Given the description of an element on the screen output the (x, y) to click on. 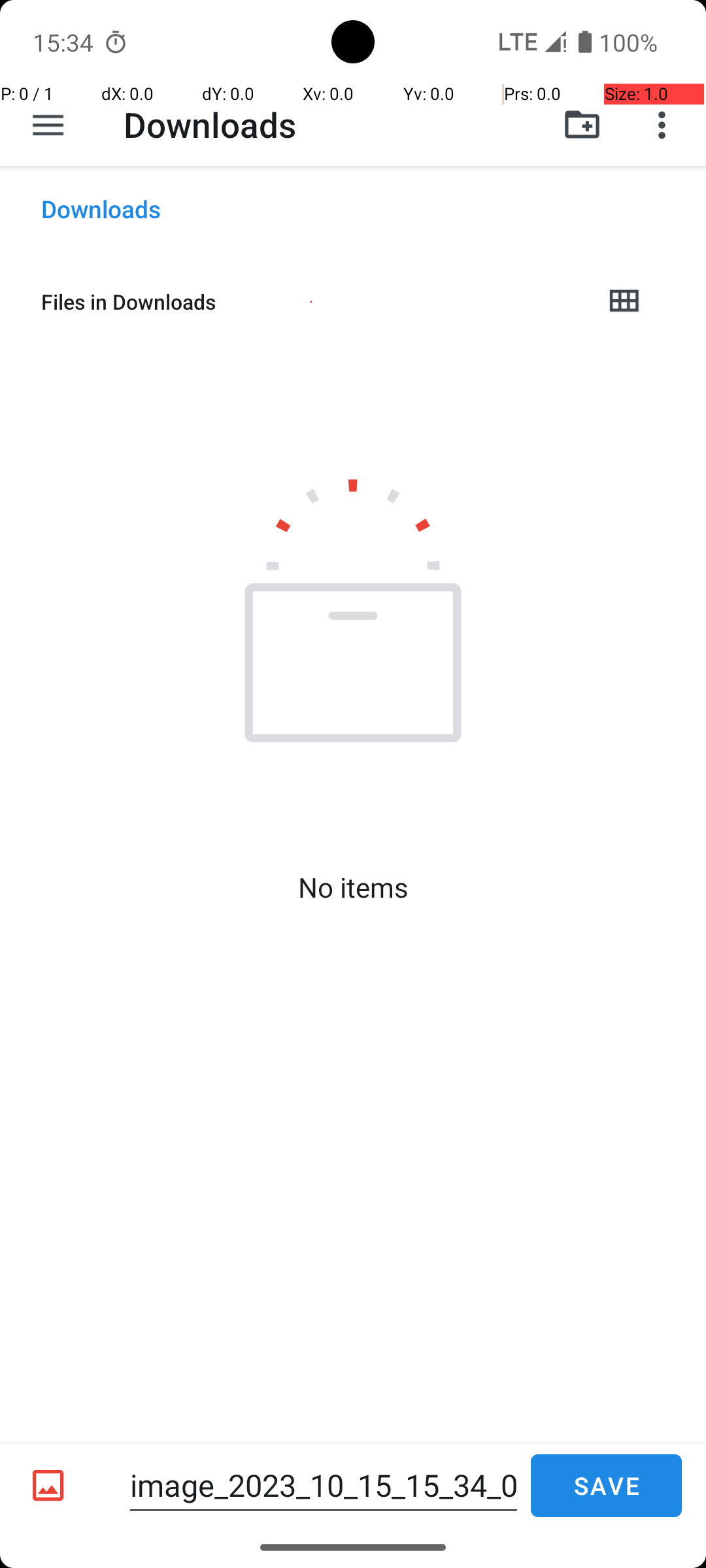
New folder Element type: android.widget.TextView (581, 124)
image_2023_10_15_15_34_08.png Element type: android.widget.EditText (323, 1485)
